Given the description of an element on the screen output the (x, y) to click on. 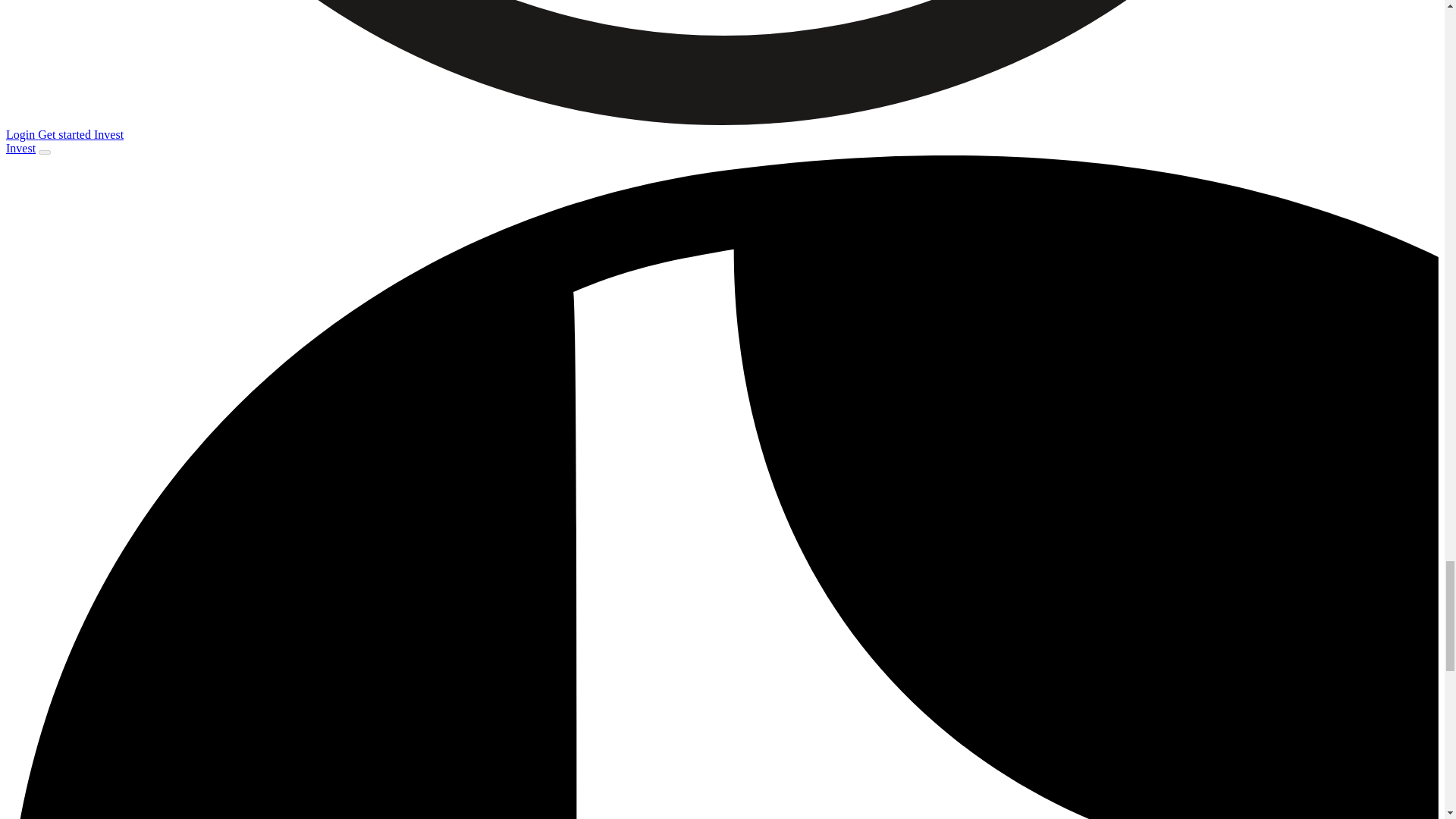
Invest (19, 147)
Get started Invest (80, 133)
